Given the description of an element on the screen output the (x, y) to click on. 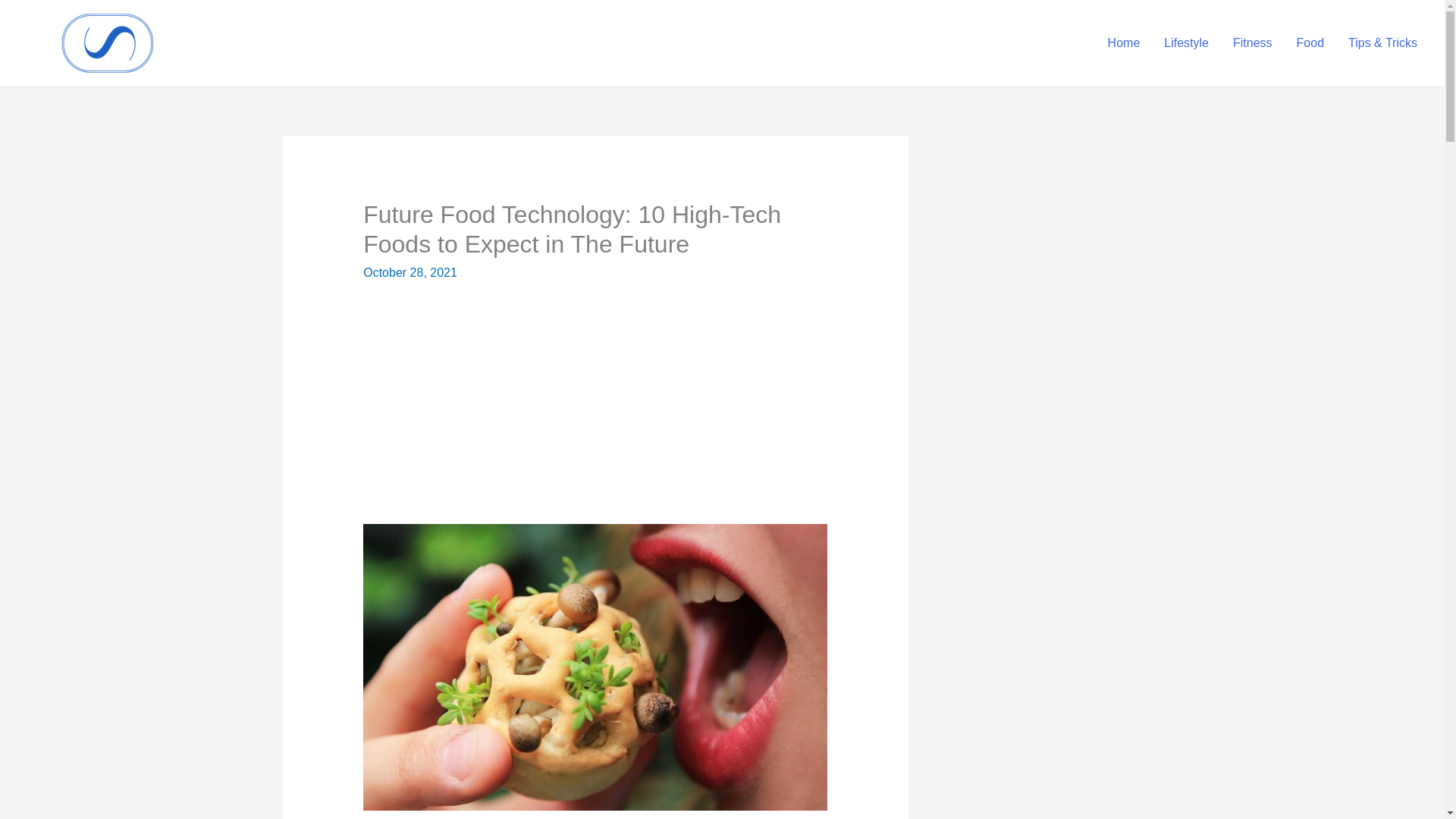
Fitness (1252, 42)
Lifestyle (1186, 42)
Advertisement (594, 411)
Food (1310, 42)
Home (1124, 42)
